Given the description of an element on the screen output the (x, y) to click on. 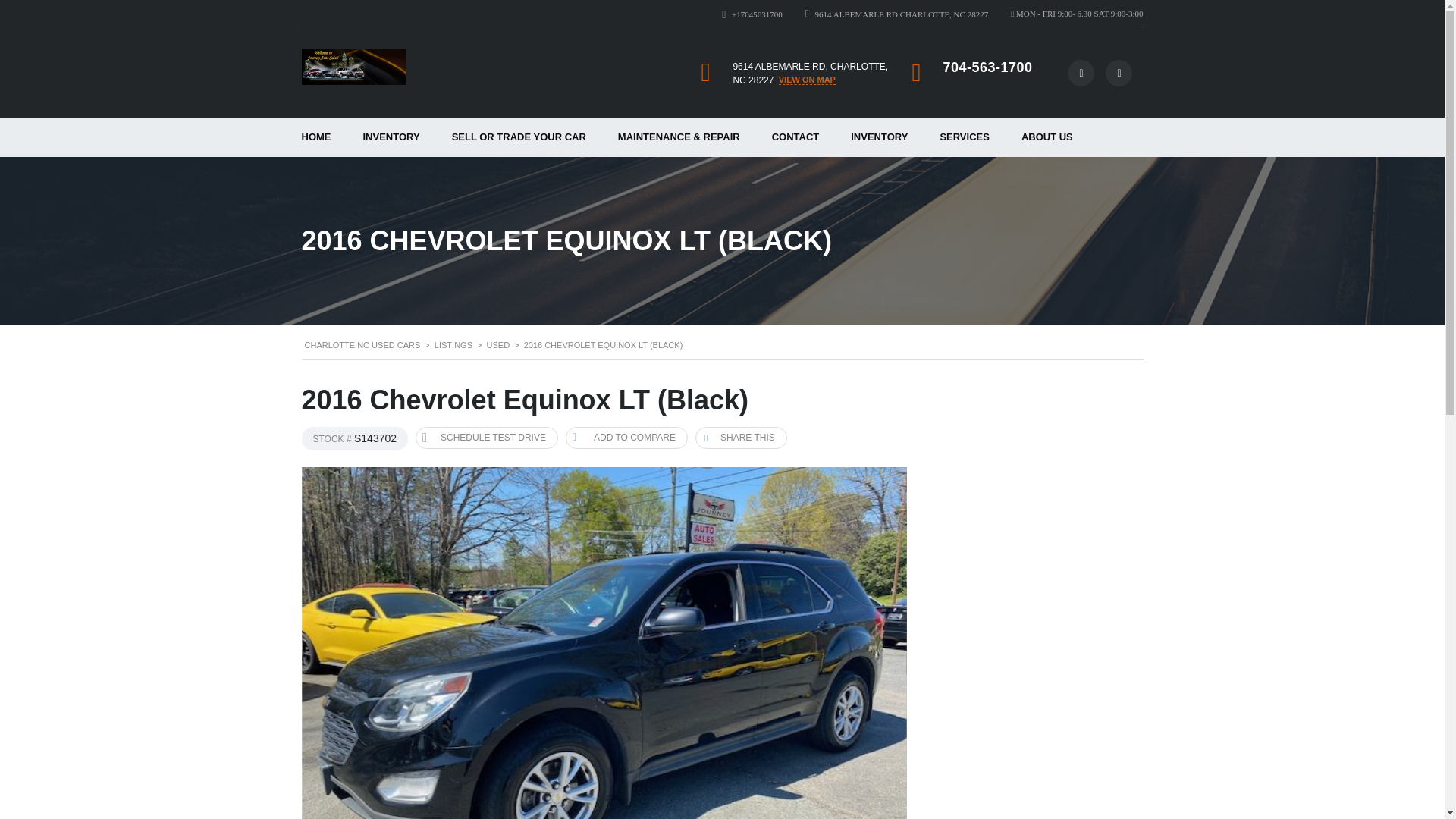
INVENTORY (878, 137)
INVENTORY (391, 137)
SCHEDULE TEST DRIVE (485, 437)
USED (498, 344)
LISTINGS (452, 344)
Go to Charlotte NC Used Cars. (362, 344)
CONTACT (795, 137)
SELL OR TRADE YOUR CAR (518, 137)
Share this (741, 437)
704-563-1700 (987, 67)
HOME (315, 137)
Go to the Used Condition archives. (498, 344)
ABOUT US (1047, 137)
Go to Listings. (452, 344)
Home (353, 66)
